Given the description of an element on the screen output the (x, y) to click on. 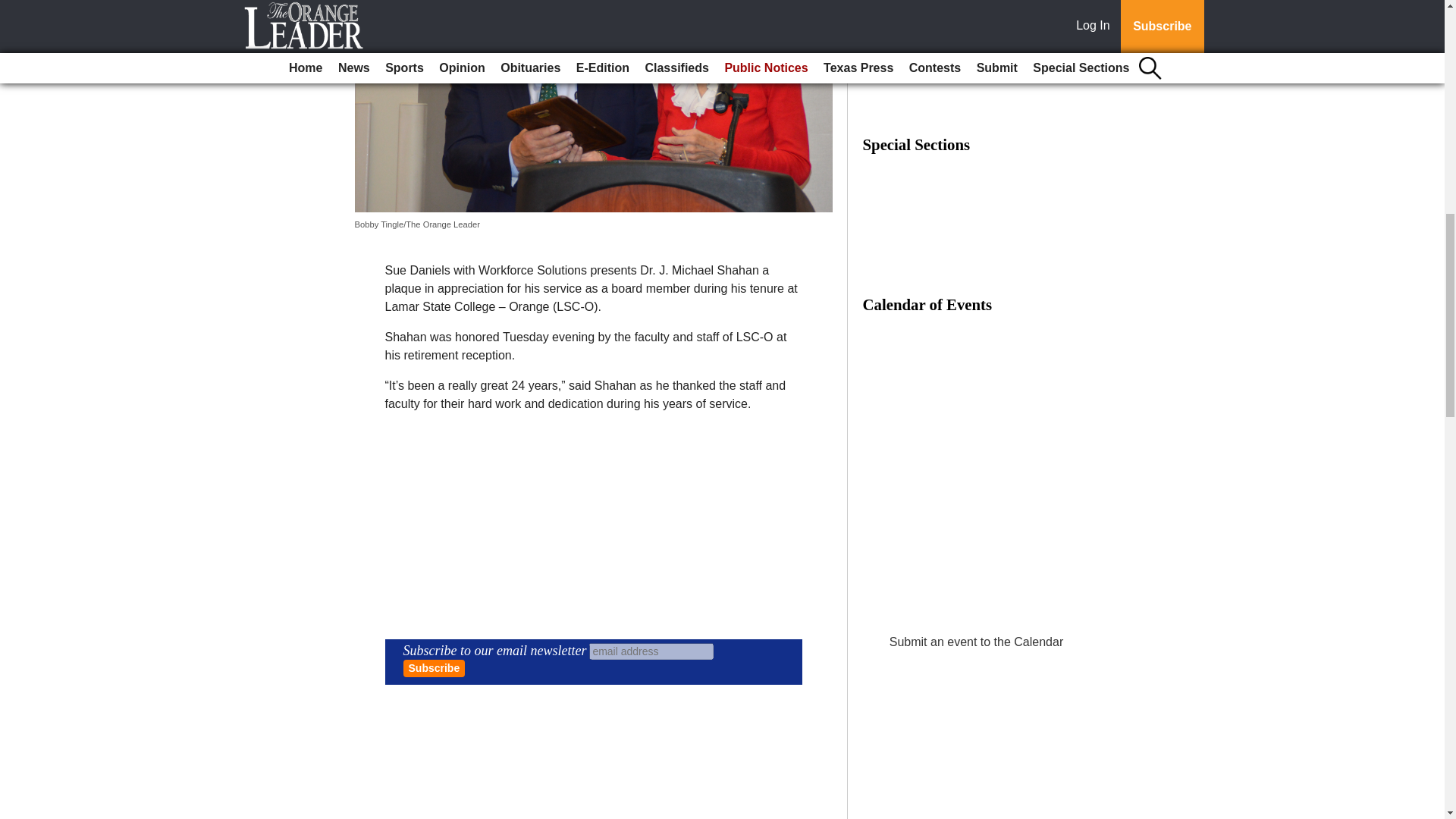
Submit an event to the Calendar (975, 641)
Subscribe (434, 668)
Subscribe (434, 668)
